Given the description of an element on the screen output the (x, y) to click on. 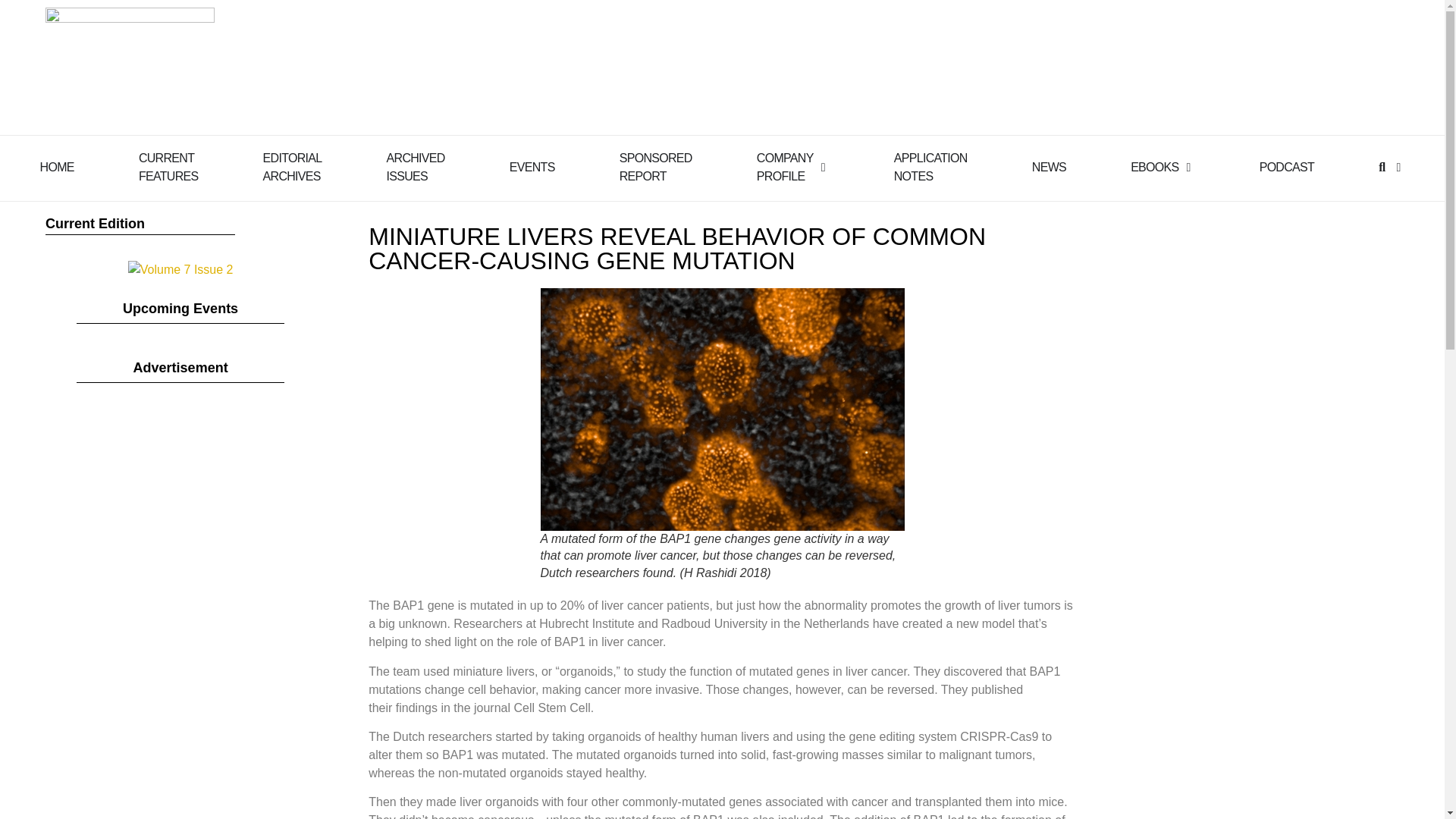
PODCAST (416, 167)
HOME (1286, 167)
NEWS (57, 167)
EVENTS (785, 167)
Volume 7 Issue 2 (656, 167)
